Given the description of an element on the screen output the (x, y) to click on. 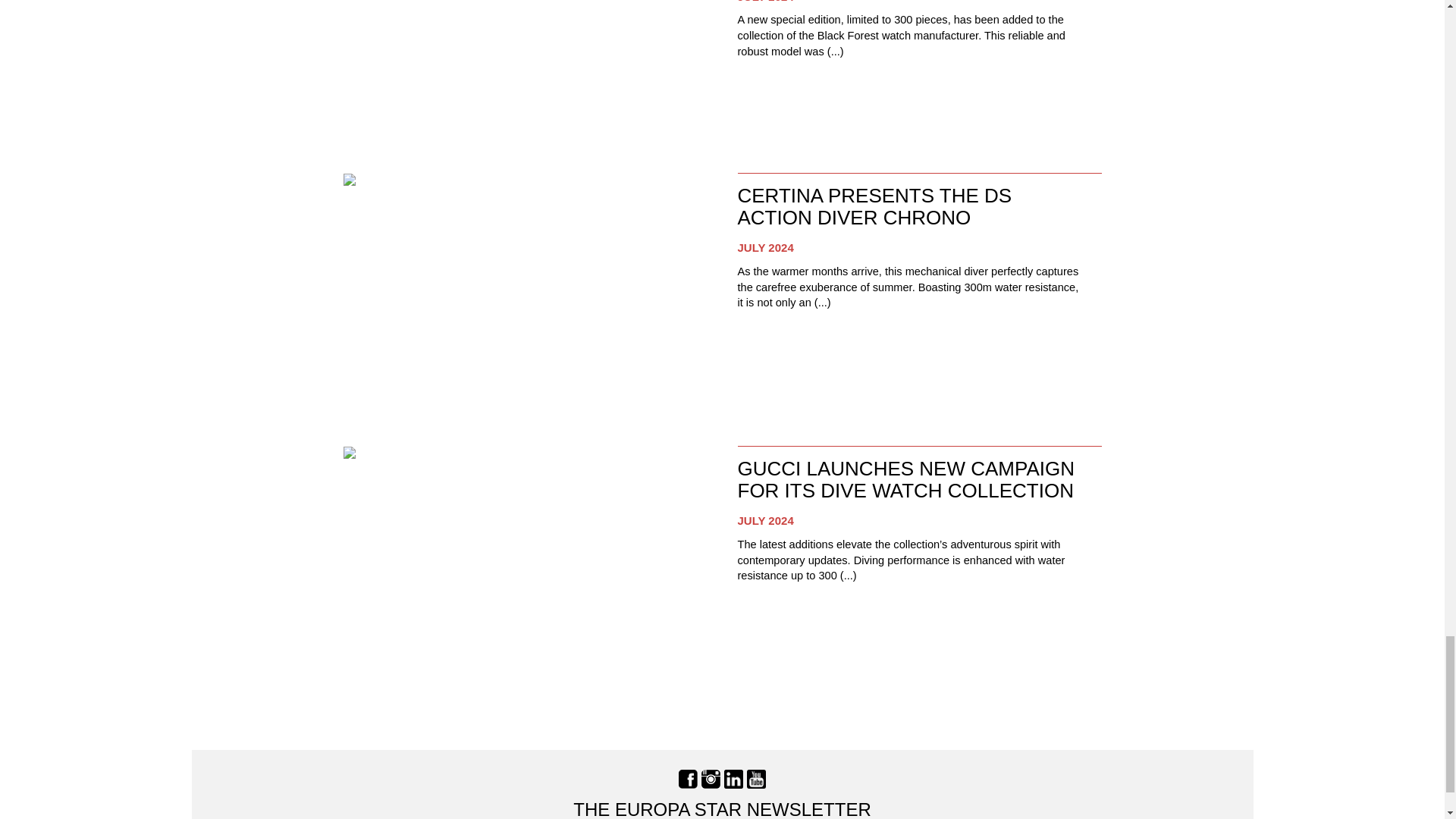
Facebook (687, 777)
Instagram (710, 777)
Linkedin (732, 777)
Youtube (755, 777)
